Given the description of an element on the screen output the (x, y) to click on. 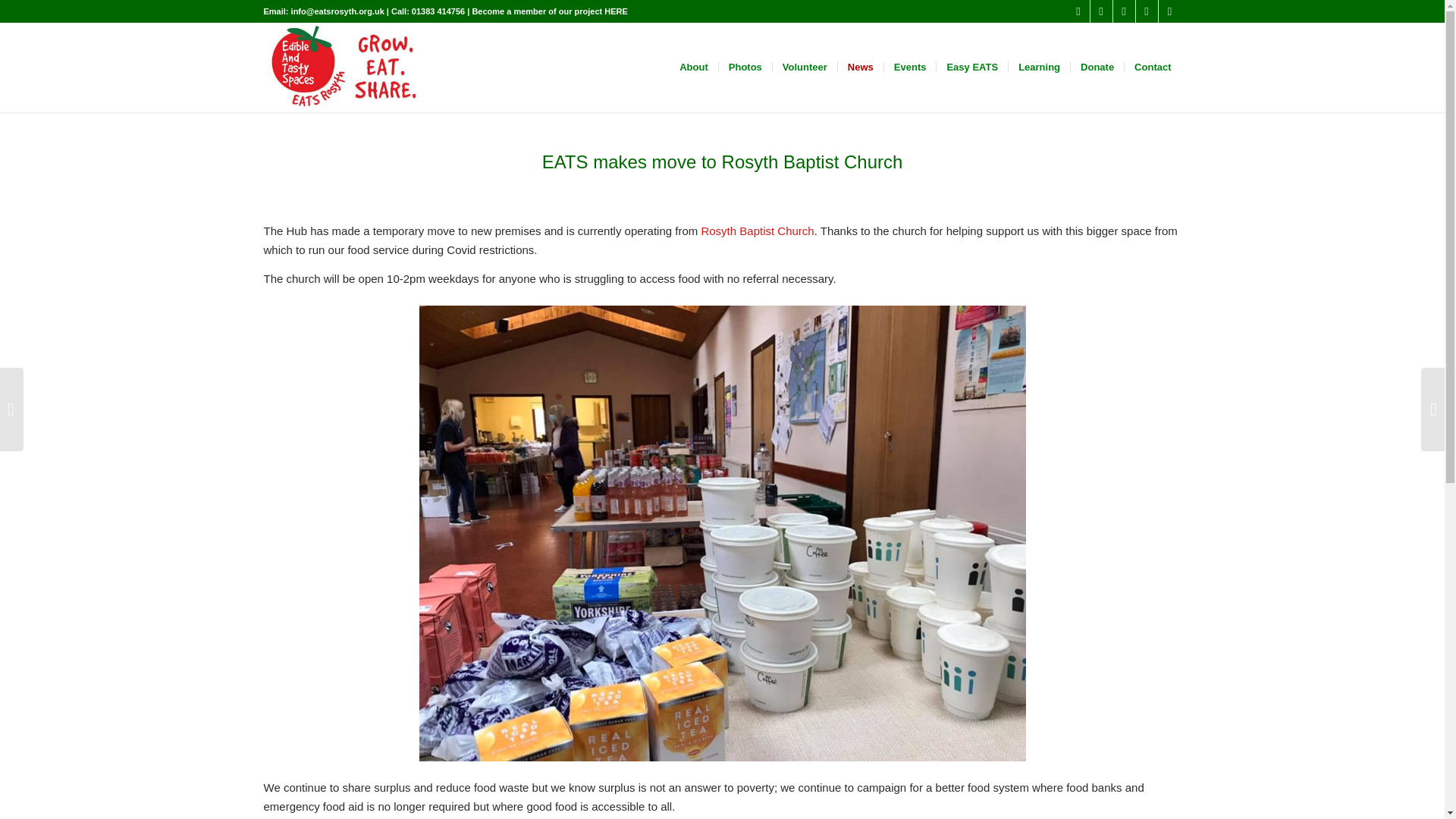
Twitter (1078, 11)
Rosyth Baptist Church (756, 230)
Facebook (1101, 11)
HERE (615, 10)
Youtube (1146, 11)
Mail (1124, 11)
Instagram (1169, 11)
